Given the description of an element on the screen output the (x, y) to click on. 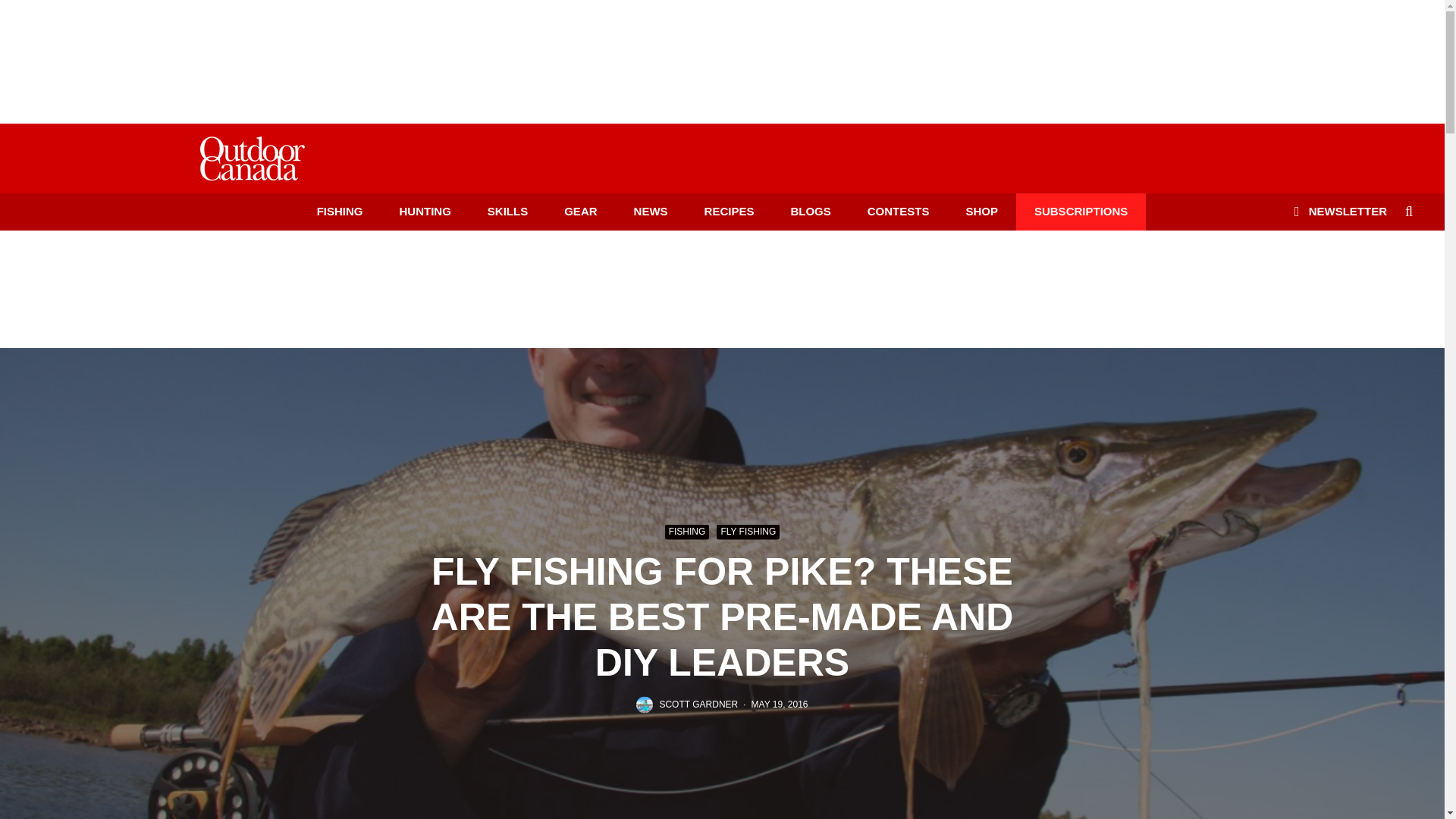
CONTESTS (897, 211)
RECIPES (729, 211)
3rd party ad content (721, 287)
FISHING (339, 211)
HUNTING (424, 211)
SKILLS (507, 211)
BLOGS (809, 211)
GEAR (580, 211)
NEWS (650, 211)
3rd party ad content (721, 51)
